Given the description of an element on the screen output the (x, y) to click on. 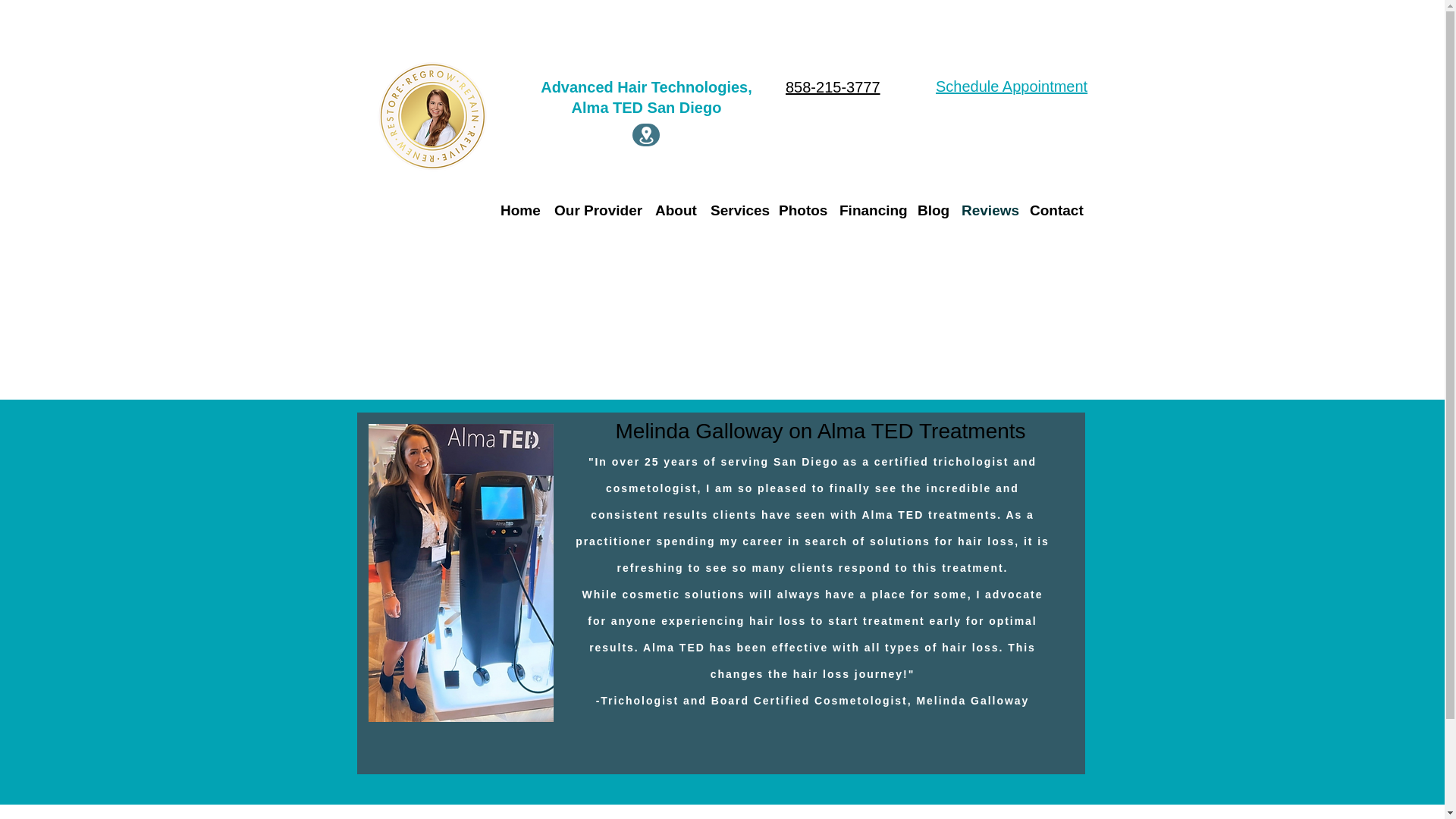
Home (520, 209)
Blog (931, 209)
858-215-3777 (833, 86)
Schedule Appointment (1011, 86)
Our Provider (597, 209)
Contact (1055, 209)
Reviews (987, 209)
Services (737, 209)
Photos (801, 209)
About (675, 209)
